Given the description of an element on the screen output the (x, y) to click on. 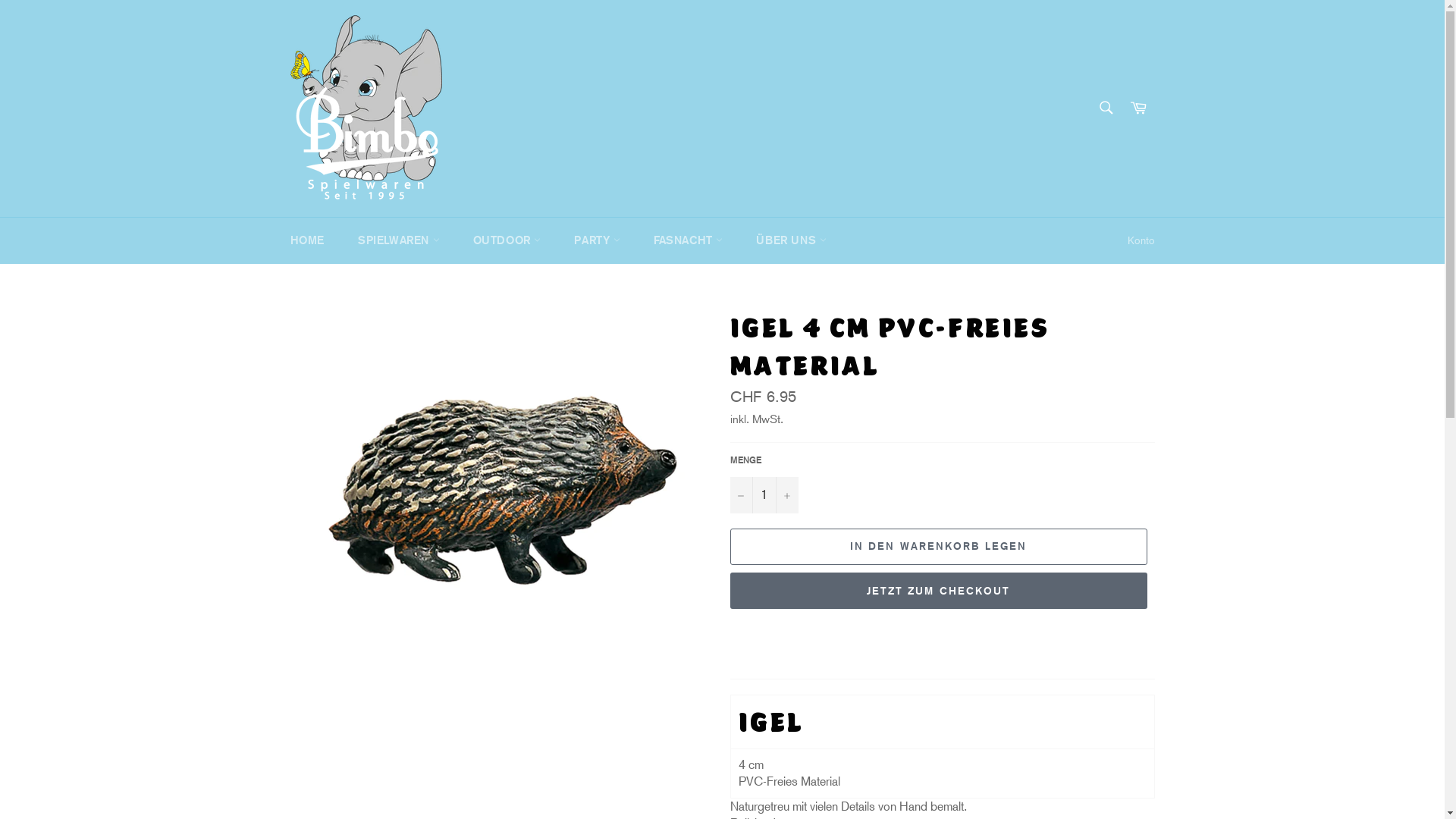
HOME Element type: text (306, 240)
FASNACHT Element type: text (687, 240)
JETZT ZUM CHECKOUT Element type: text (937, 590)
+ Element type: text (786, 494)
OUTDOOR Element type: text (507, 240)
IN DEN WARENKORB LEGEN Element type: text (937, 546)
Konto Element type: text (1140, 240)
Suchen Element type: text (1105, 106)
PARTY Element type: text (596, 240)
Warenkorb Element type: text (1138, 108)
SPIELWAREN Element type: text (398, 240)
